Given the description of an element on the screen output the (x, y) to click on. 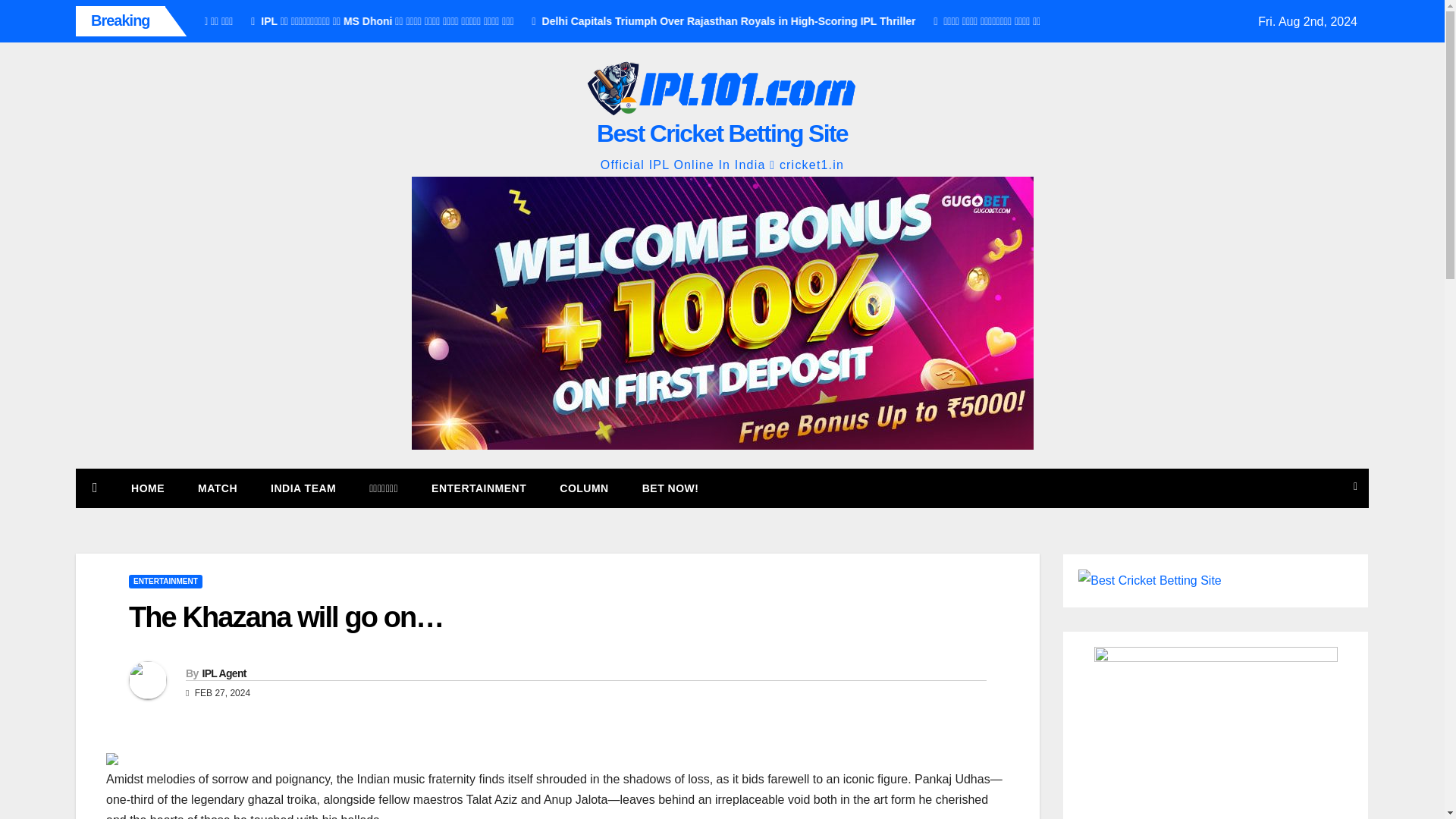
Entertainment (478, 487)
Column (583, 487)
INDIA TEAM (302, 487)
ENTERTAINMENT (165, 581)
MATCH (216, 487)
HOME (147, 487)
ENTERTAINMENT (478, 487)
Bet Now! (671, 487)
COLUMN (583, 487)
India Team (302, 487)
